Given the description of an element on the screen output the (x, y) to click on. 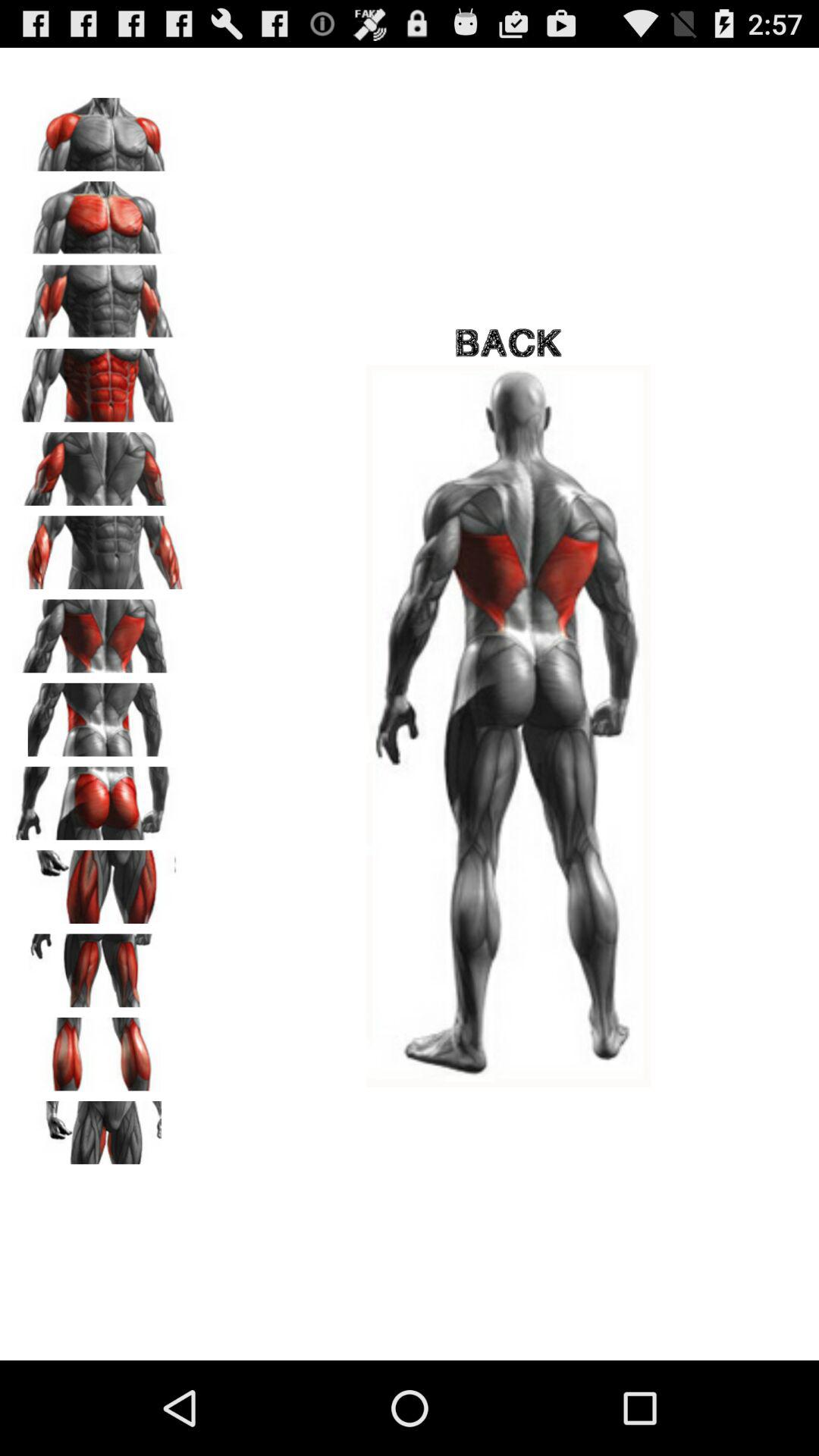
select quadriceps (99, 881)
